Given the description of an element on the screen output the (x, y) to click on. 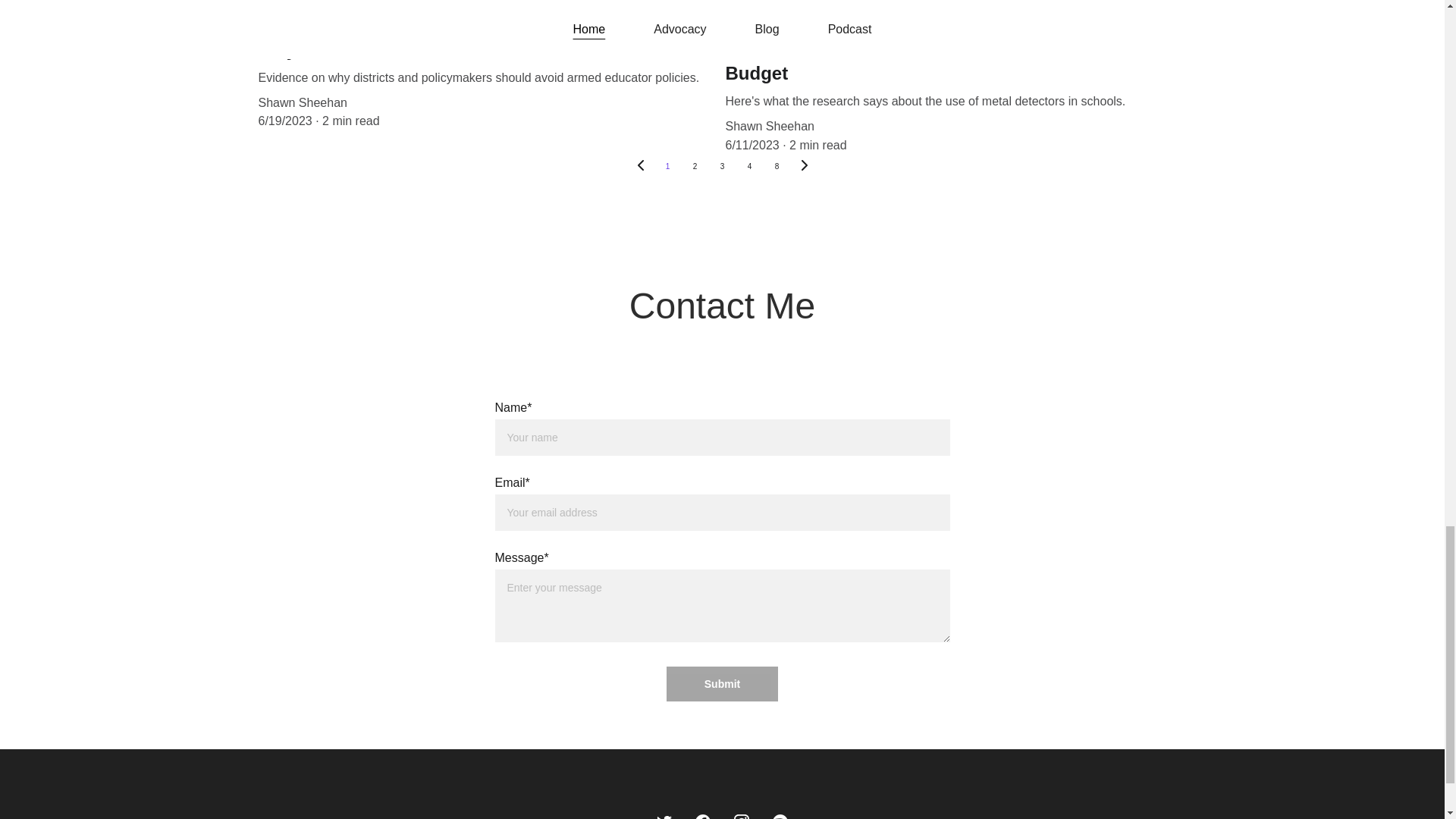
Go to Twitter page (663, 816)
Go to Facebook page (702, 816)
3 (721, 166)
8 (776, 166)
Go to Spotify page (780, 816)
2 (694, 166)
4 (748, 166)
Submit (721, 683)
1 (667, 166)
Go to Instagram page (741, 816)
